Given the description of an element on the screen output the (x, y) to click on. 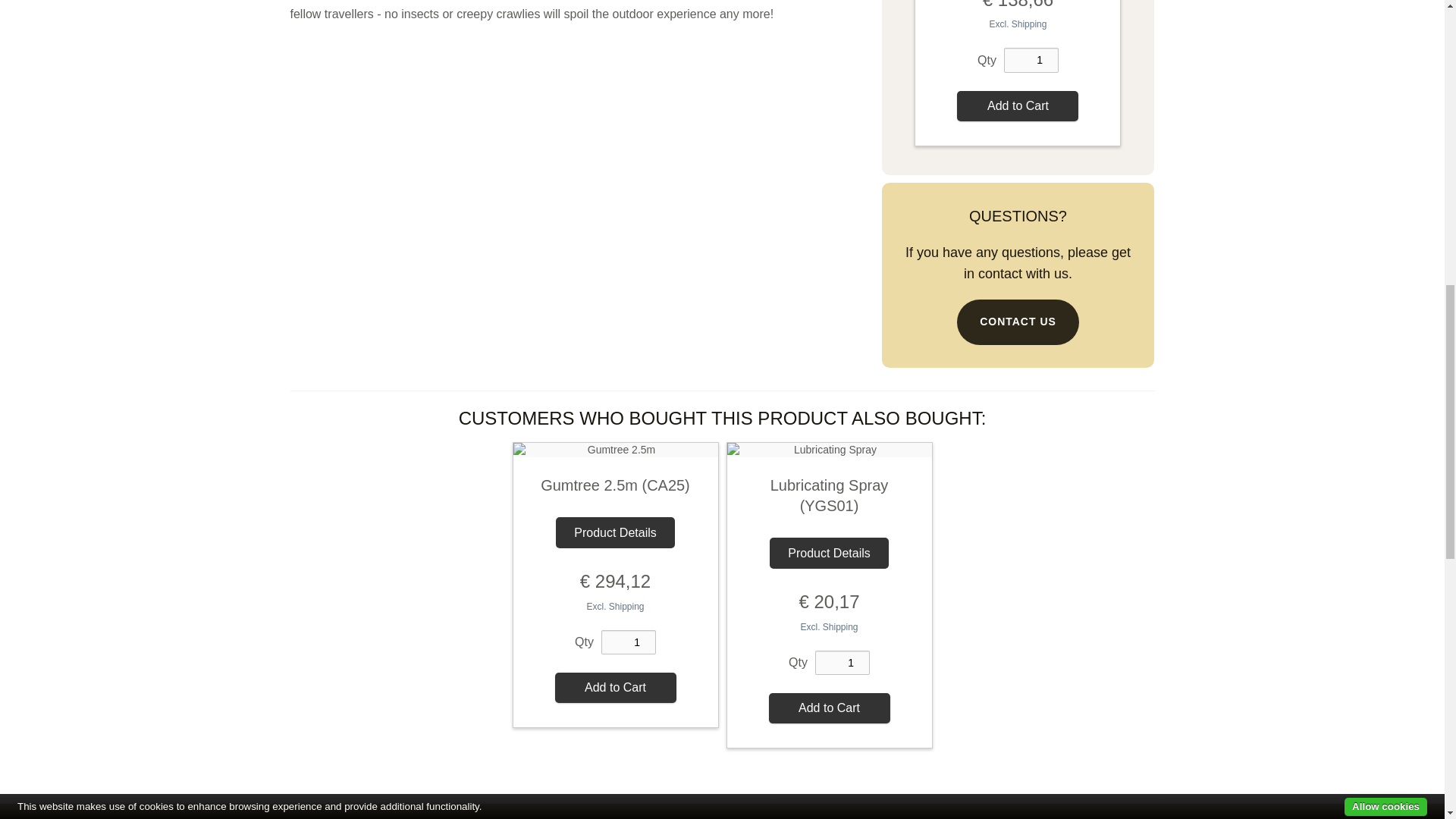
Add to Cart (1017, 105)
Product Details (829, 553)
1 (628, 642)
Add to Cart (615, 687)
1 (1031, 59)
Product Details (615, 532)
1 (842, 662)
CONTACT US (1017, 321)
